Given the description of an element on the screen output the (x, y) to click on. 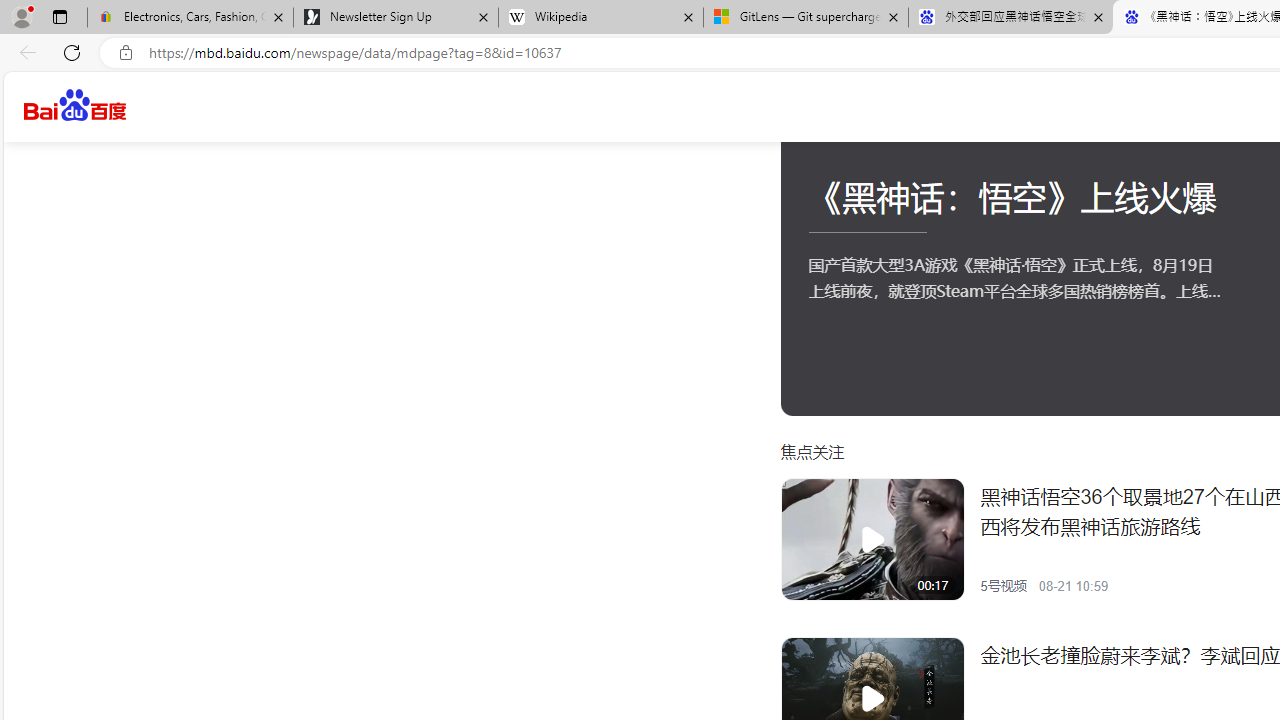
Class: w-icon pc-image-mask-icon (872, 697)
Class: w-icon pc-image-default-icon (871, 698)
Newsletter Sign Up (395, 17)
